Given the description of an element on the screen output the (x, y) to click on. 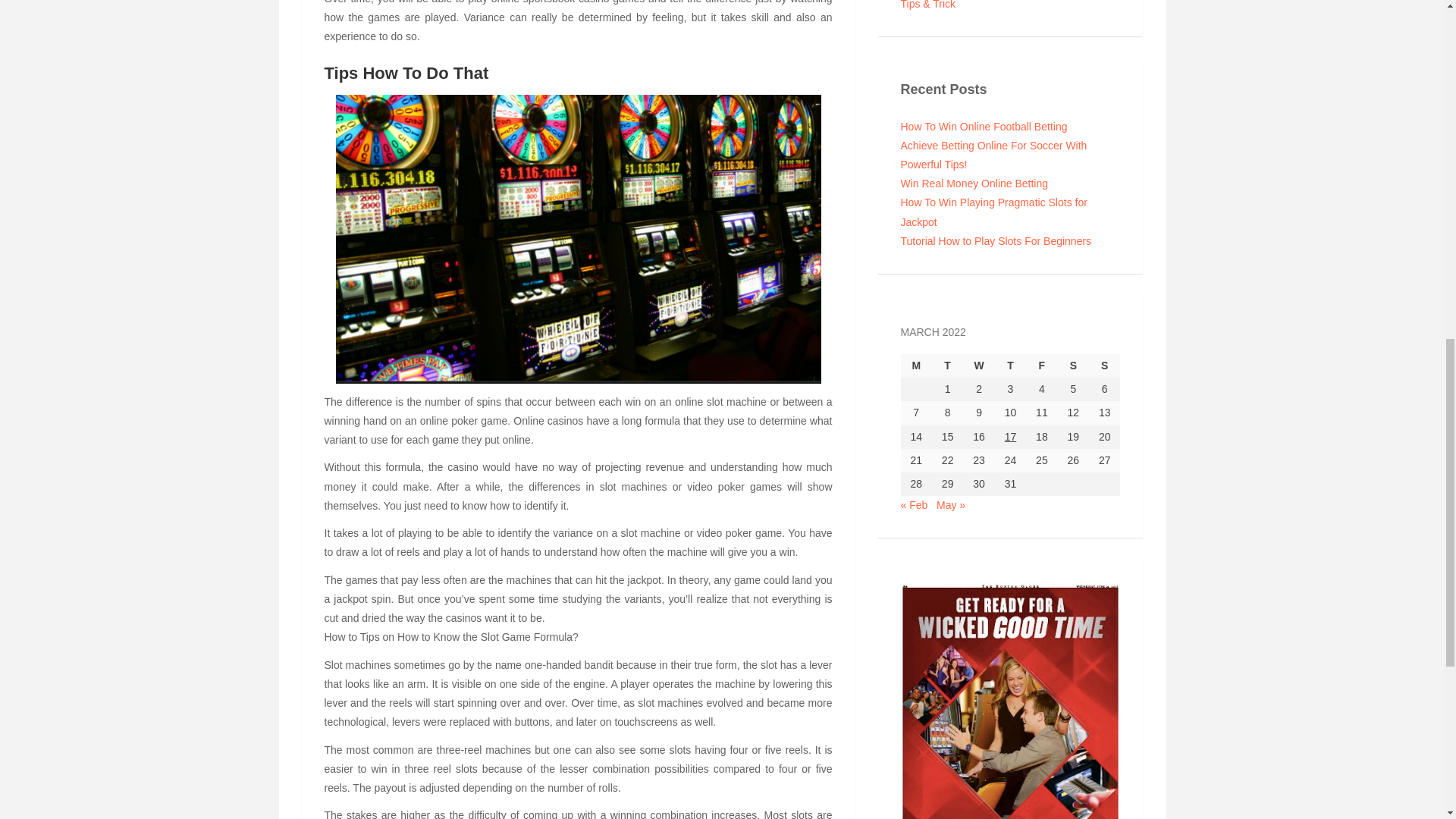
Tuesday (946, 365)
Wednesday (978, 365)
Sunday (1104, 365)
Saturday (1073, 365)
Thursday (1010, 365)
Friday (1041, 365)
Monday (916, 365)
